Given the description of an element on the screen output the (x, y) to click on. 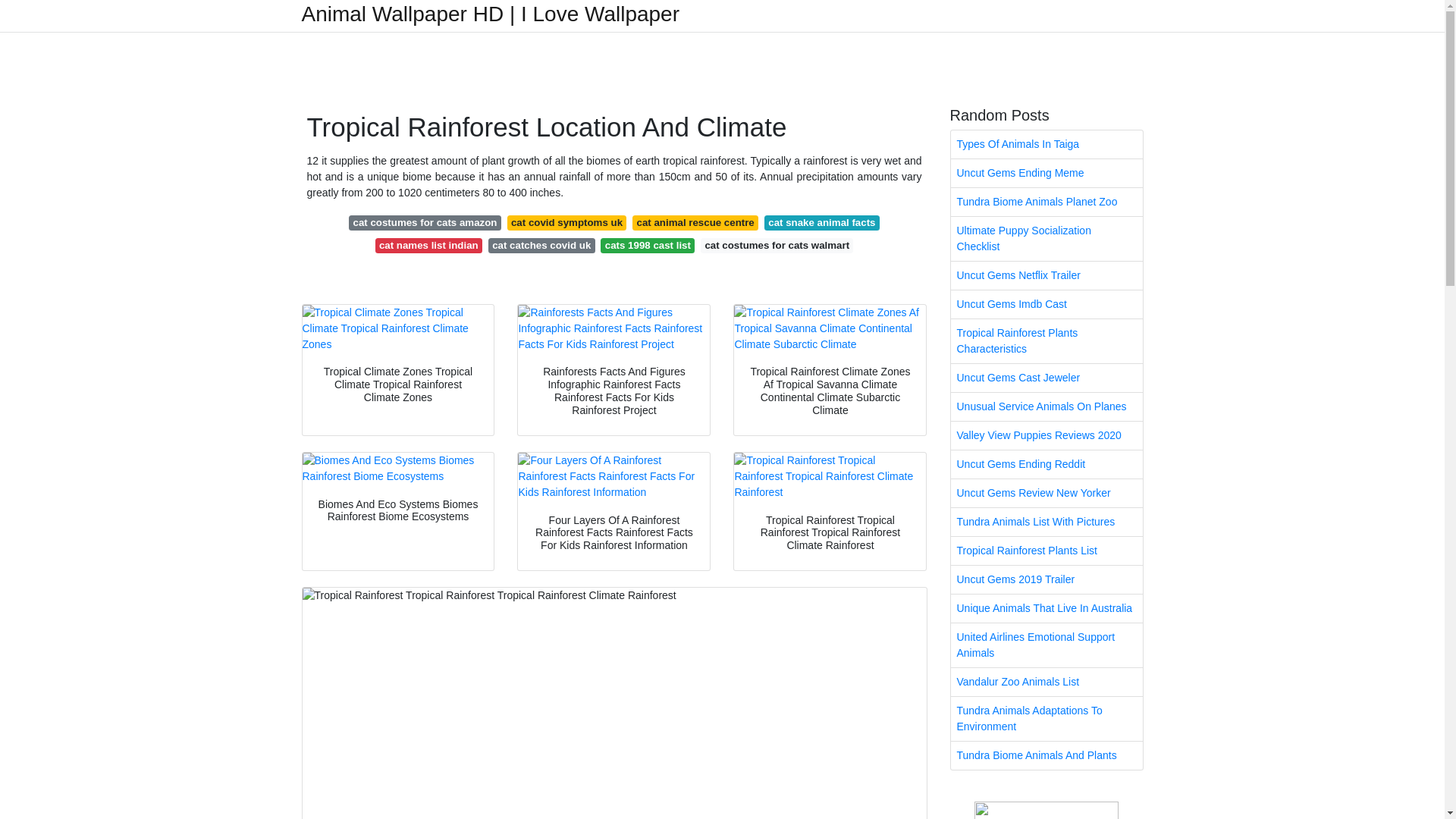
cat names list indian (428, 245)
Uncut Gems Netflix Trailer (1046, 275)
cat snake animal facts (821, 222)
Uncut Gems Cast Jeweler (1046, 377)
cat animal rescue centre (694, 222)
Unusual Service Animals On Planes (1046, 406)
Tropical Rainforest Plants Characteristics (1046, 341)
Tundra Biome Animals Planet Zoo (1046, 202)
Ultimate Puppy Socialization Checklist (1046, 239)
Uncut Gems Imdb Cast (1046, 304)
